Given the description of an element on the screen output the (x, y) to click on. 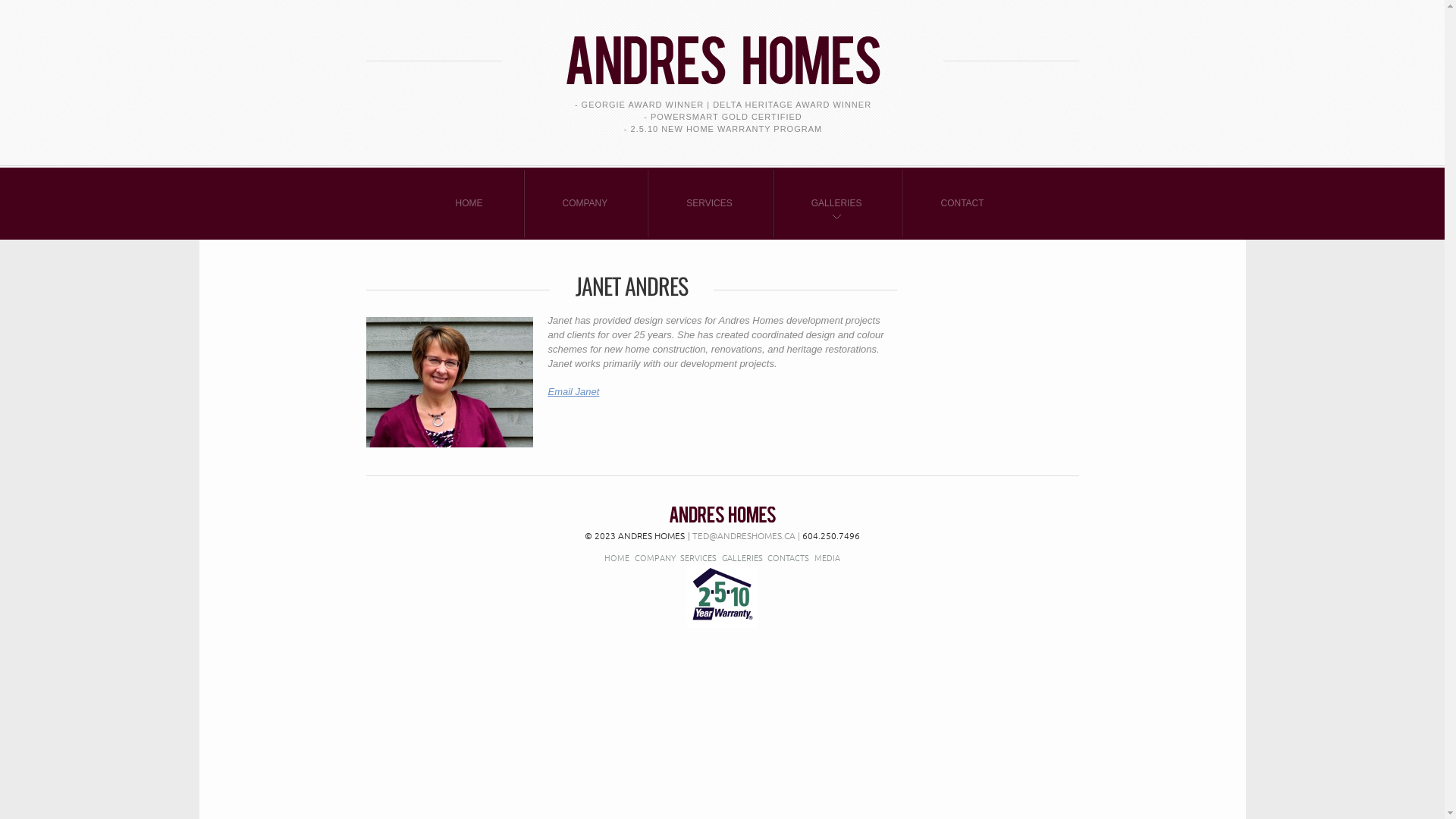
Quality Built Homes Element type: hover (721, 48)
TED@ANDRESHOMES.CA | Element type: text (744, 535)
MEDIA Element type: text (827, 557)
HOME Element type: text (616, 557)
HOME Element type: text (469, 203)
CONTACT Element type: text (961, 203)
SERVICES Element type: text (698, 557)
COMPANY Element type: text (654, 557)
GALLERIES Element type: text (836, 203)
SERVICES Element type: text (708, 203)
Email Janet Element type: text (573, 391)
CONTACTS Element type: text (788, 557)
COMPANY Element type: text (585, 203)
Quality Built Homes Element type: hover (722, 514)
GALLERIES Element type: text (741, 557)
